Given the description of an element on the screen output the (x, y) to click on. 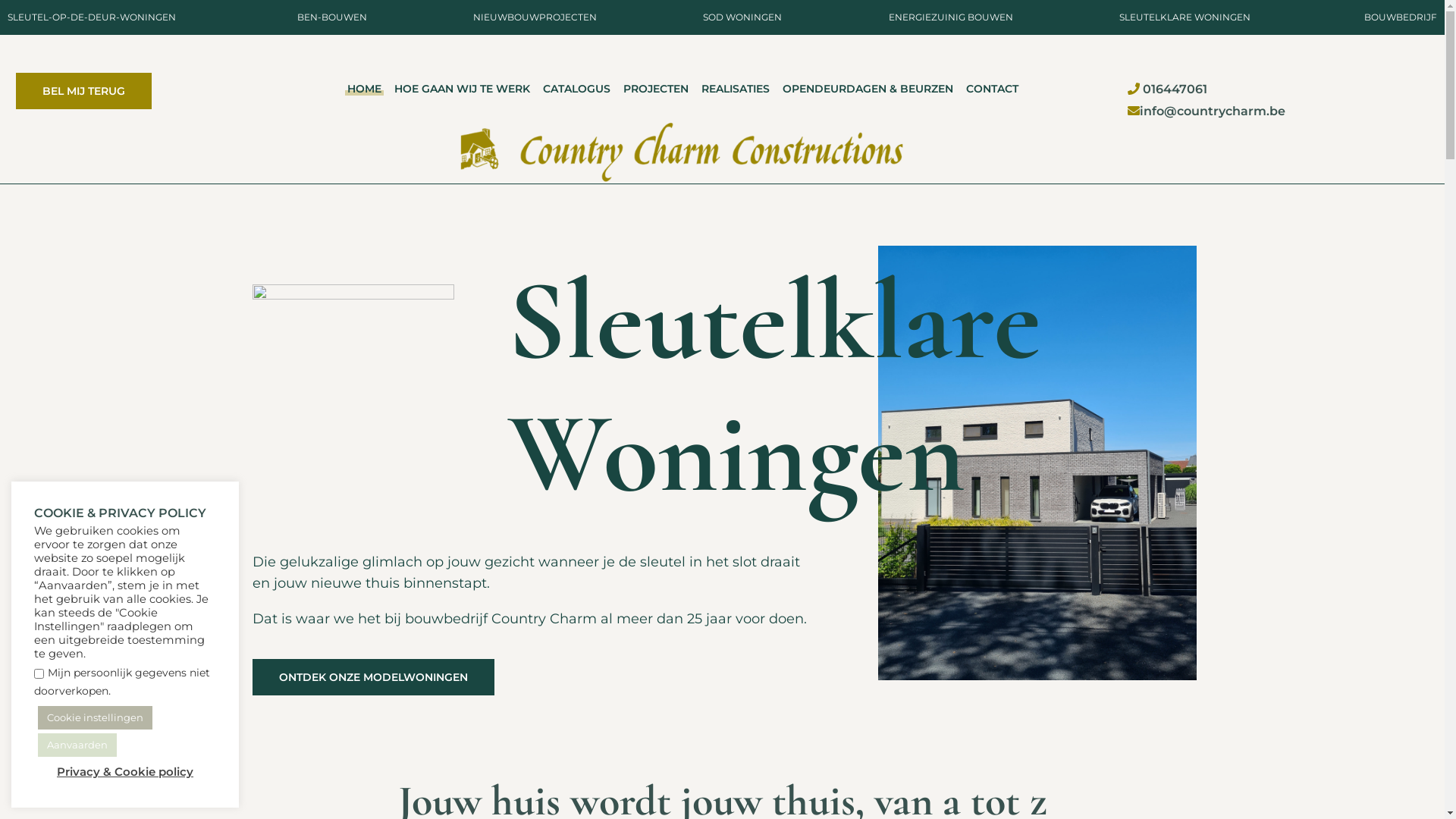
OPENDEURDAGEN & BEURZEN Element type: text (867, 88)
HOME Element type: text (364, 88)
 016447061 Element type: text (1173, 88)
BEL MIJ TERUG Element type: text (83, 90)
CONTACT Element type: text (991, 88)
CATALOGUS Element type: text (576, 88)
info@countrycharm.be Element type: text (1212, 110)
ONTDEK ONZE MODELWONINGEN Element type: text (372, 676)
REALISATIES Element type: text (735, 88)
Aanvaarden Element type: text (76, 744)
HOE GAAN WIJ TE WERK Element type: text (462, 88)
PROJECTEN Element type: text (655, 88)
Cookie instellingen Element type: text (94, 717)
Privacy & Cookie policy Element type: text (124, 771)
